Given the description of an element on the screen output the (x, y) to click on. 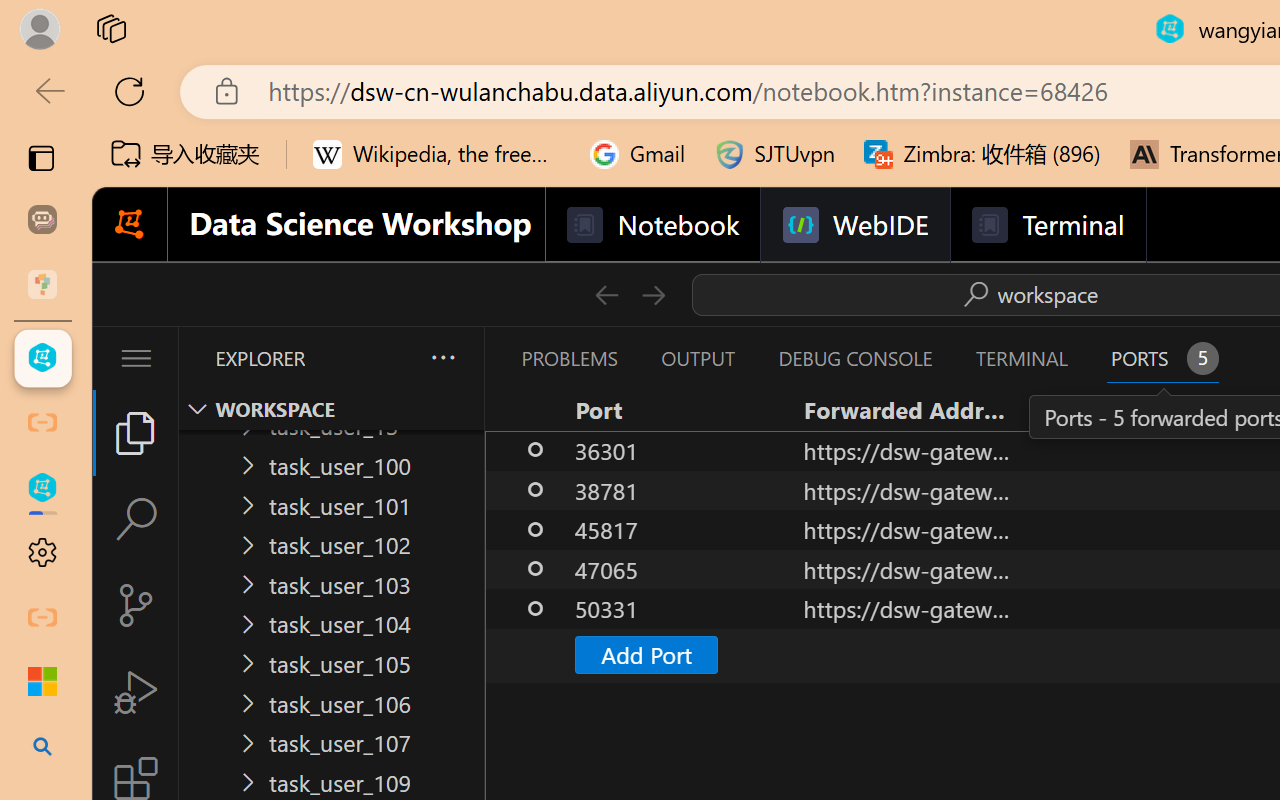
Add Port (645, 654)
Microsoft security help and learning (42, 681)
Class: menubar compact overflow-menu-only (135, 358)
Go Back (Alt+LeftArrow) (605, 294)
Terminal (Ctrl+`) (1021, 358)
Gmail (637, 154)
Explorer (Ctrl+Shift+E) (135, 432)
Run and Debug (Ctrl+Shift+D) (135, 692)
